Given the description of an element on the screen output the (x, y) to click on. 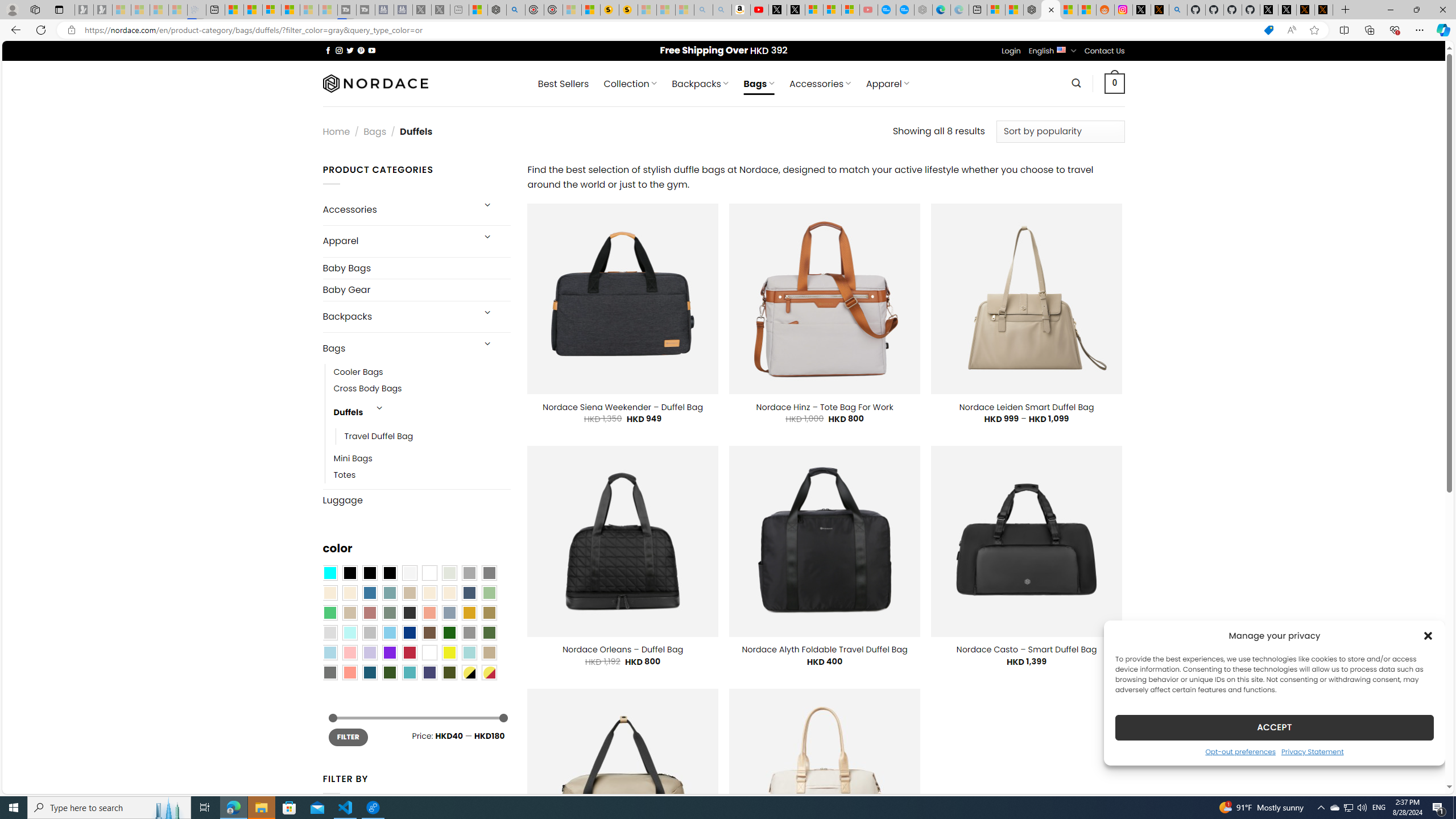
Log in to X / X (1142, 9)
help.x.com | 524: A timeout occurred (1159, 9)
Cross Body Bags (422, 388)
Mint (349, 632)
Pearly White (408, 572)
Light Blue (329, 652)
Duffels (348, 412)
This site has coupons! Shopping in Microsoft Edge (1268, 29)
Follow on Pinterest (360, 49)
